Given the description of an element on the screen output the (x, y) to click on. 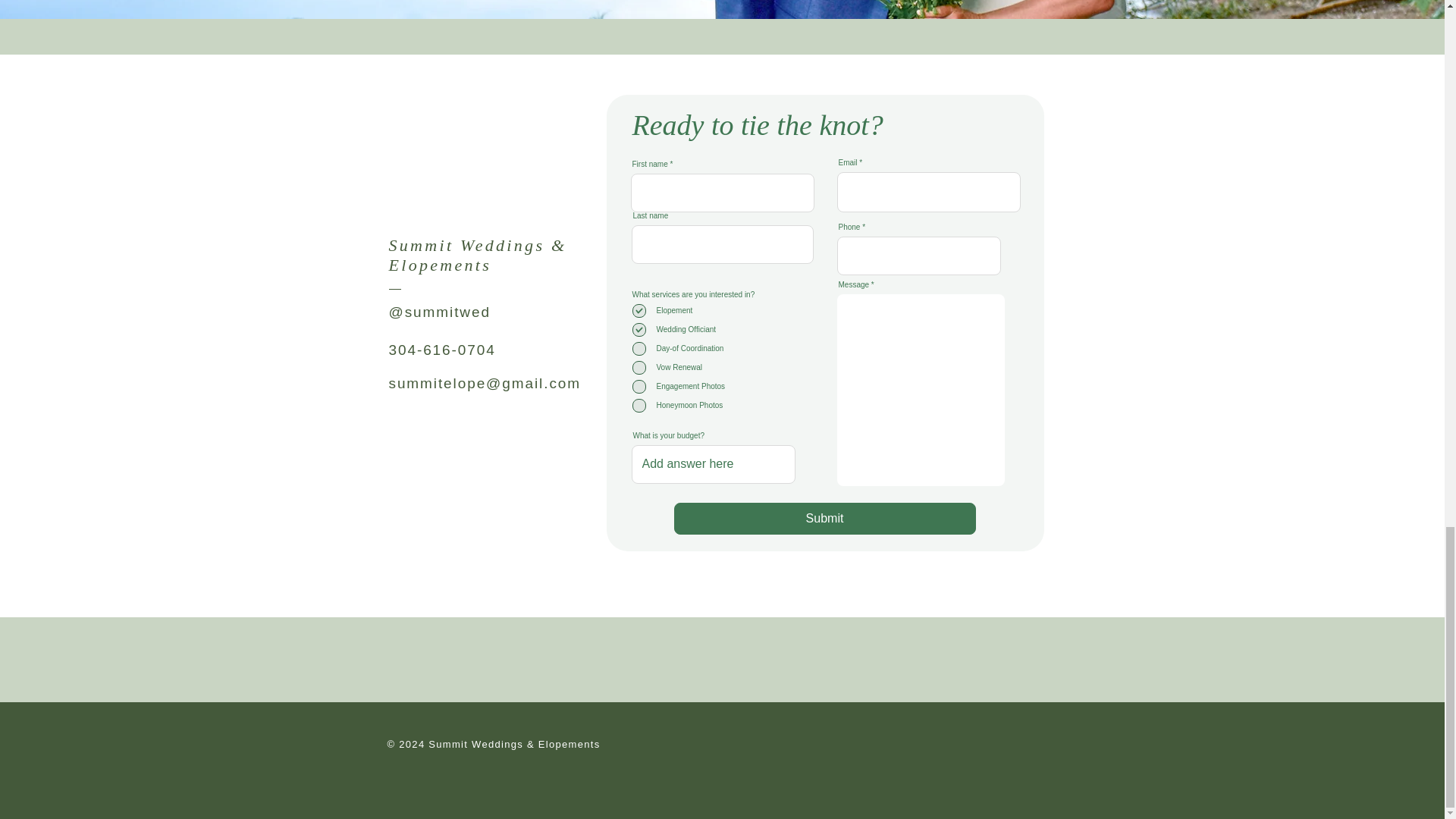
Submit (823, 518)
